Given the description of an element on the screen output the (x, y) to click on. 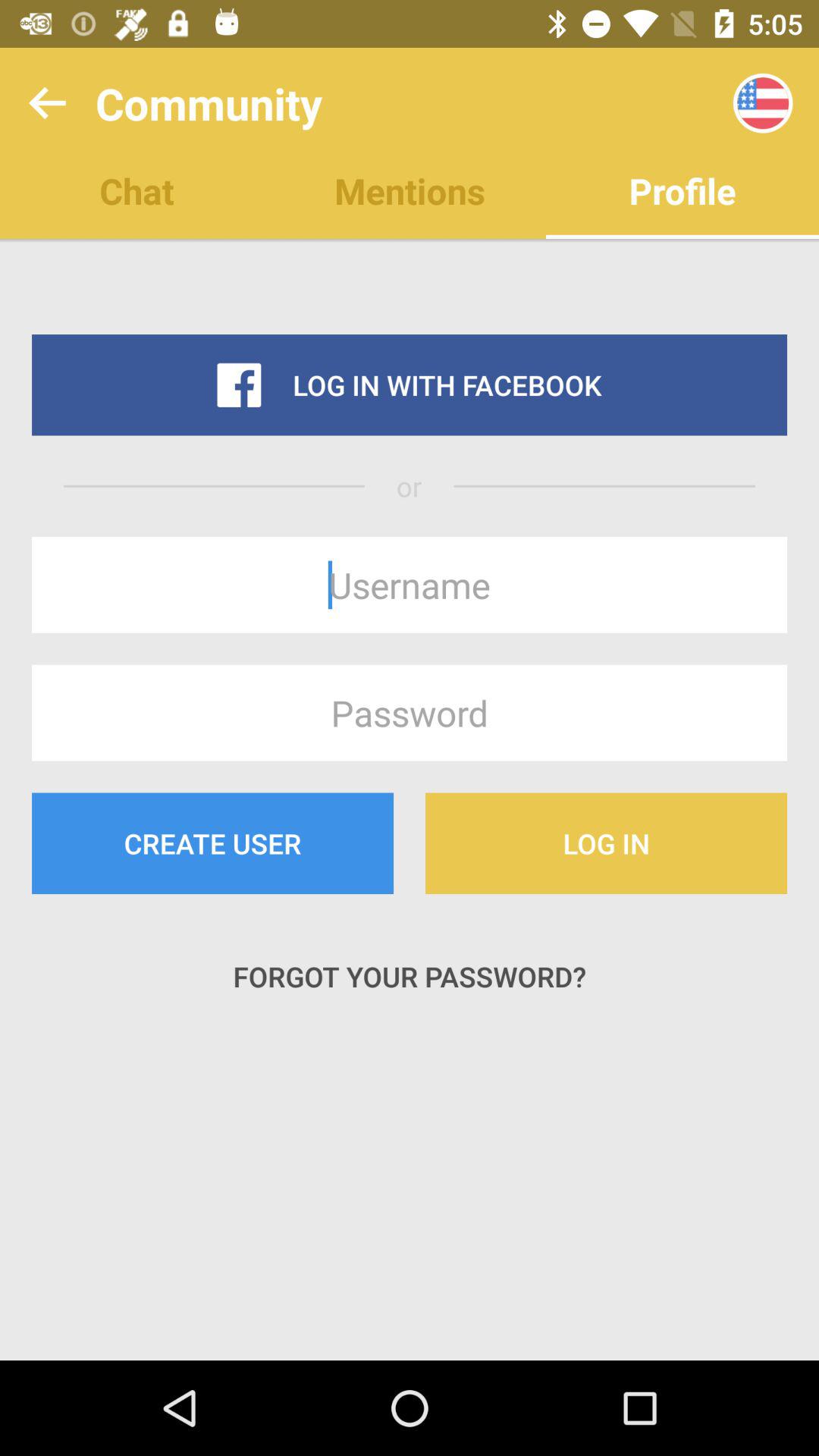
type in unsername (409, 584)
